Given the description of an element on the screen output the (x, y) to click on. 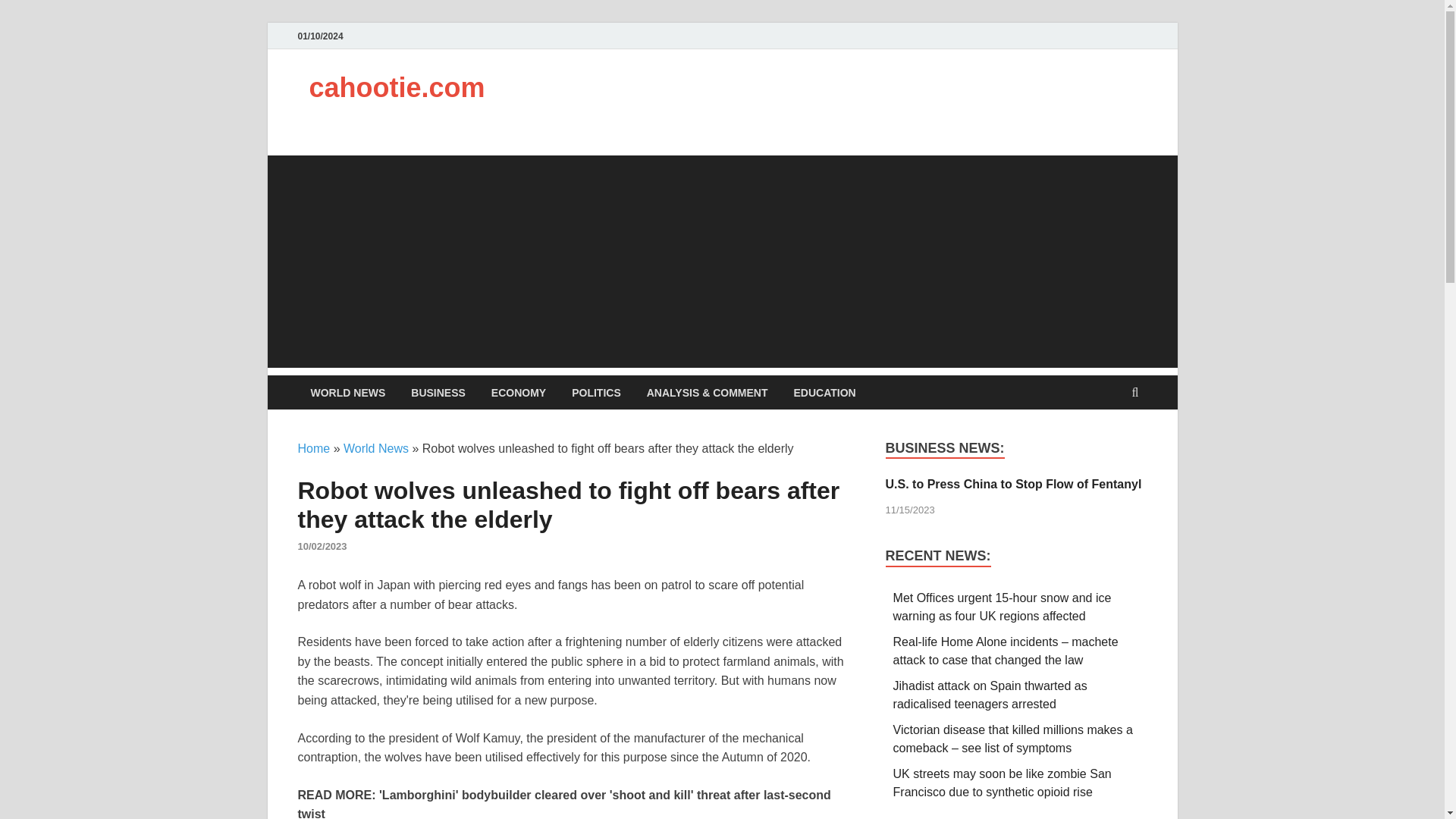
U.S. to Press China to Stop Flow of Fentanyl (1013, 483)
EDUCATION (823, 392)
cahootie.com (396, 87)
BUSINESS (438, 392)
ECONOMY (519, 392)
POLITICS (596, 392)
Home (313, 448)
World News (376, 448)
WORLD NEWS (347, 392)
